Given the description of an element on the screen output the (x, y) to click on. 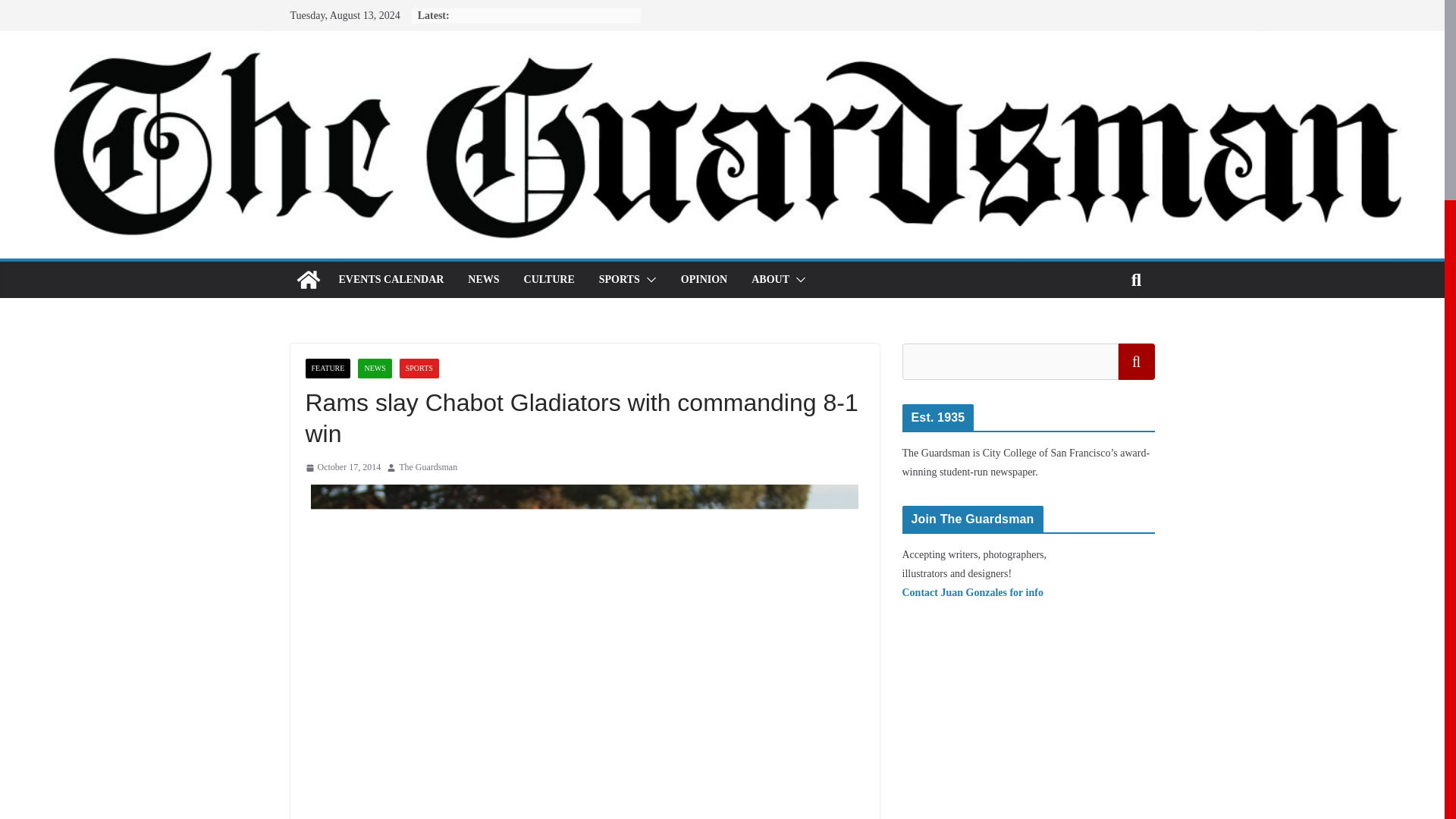
The Guardsman (427, 467)
FEATURE (327, 368)
ABOUT (770, 279)
The Guardsman (427, 467)
EVENTS CALENDAR (390, 279)
CULTURE (549, 279)
October 17, 2014 (342, 467)
NEWS (374, 368)
SPORTS (619, 279)
2:22 am (342, 467)
